Given the description of an element on the screen output the (x, y) to click on. 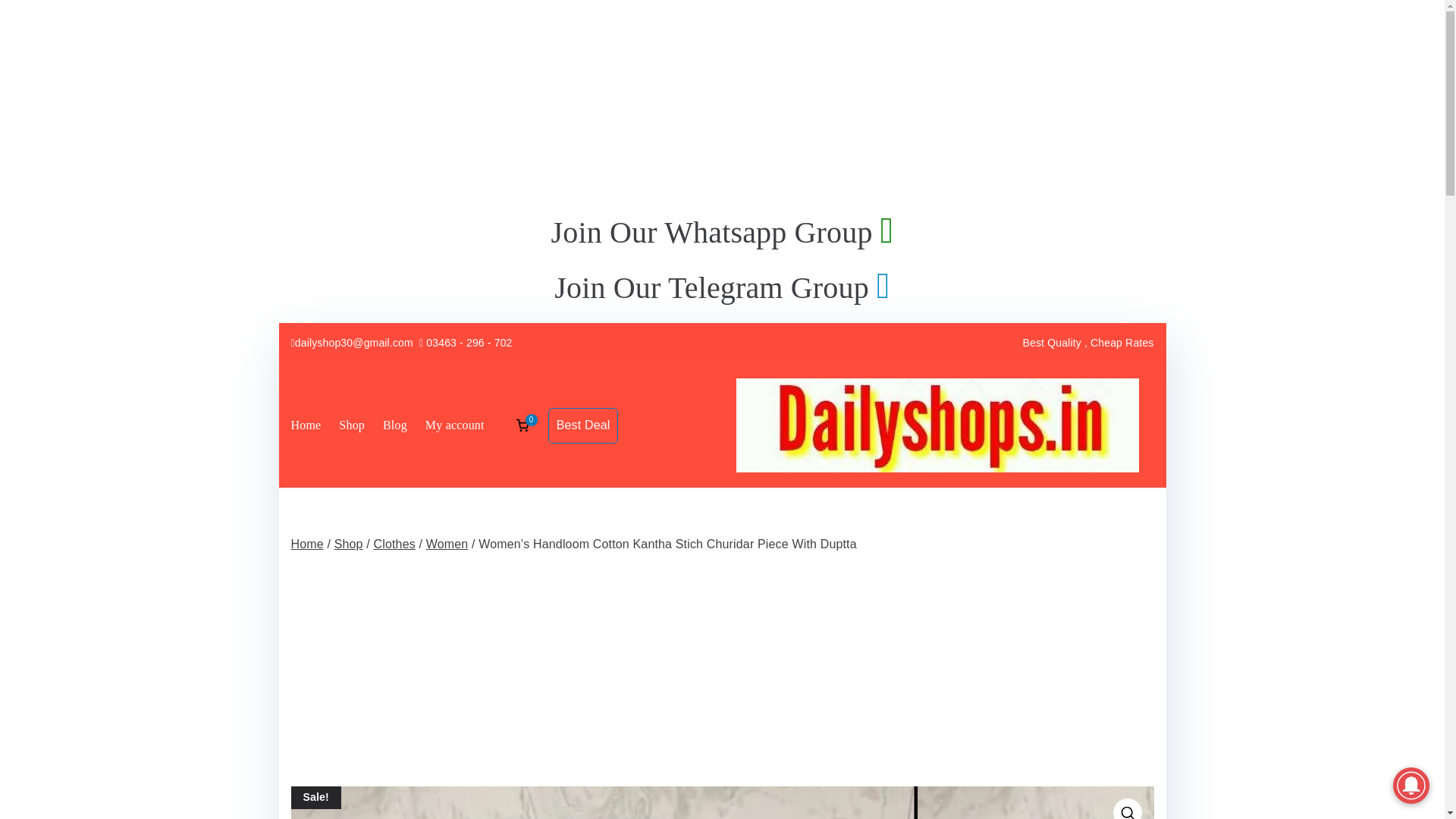
Shop (352, 425)
Clothes (393, 543)
Join Our Whatsapp Group (722, 232)
Best Deal (583, 425)
Blog (394, 425)
Home (306, 425)
